Given the description of an element on the screen output the (x, y) to click on. 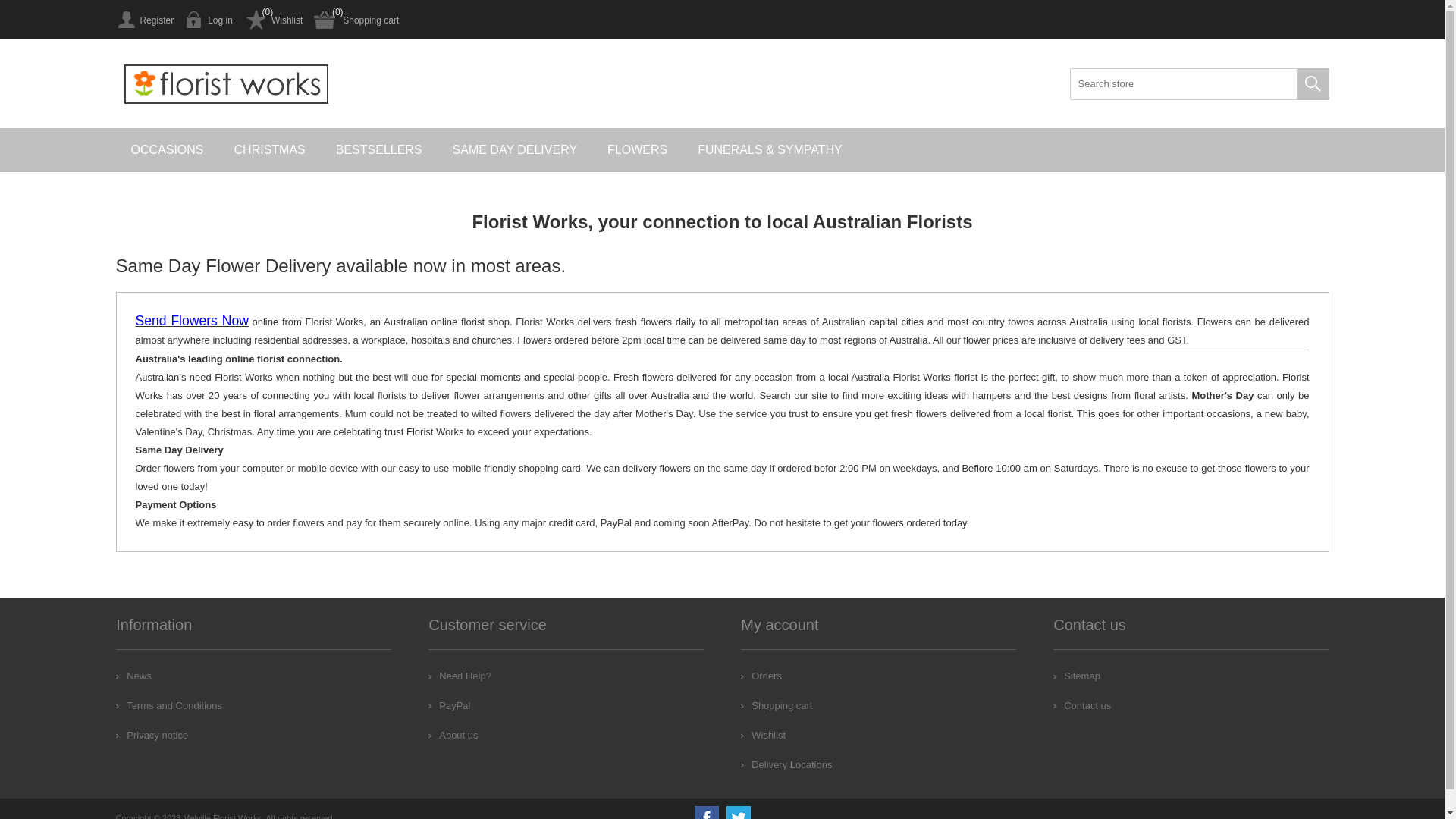
Wishlist Element type: text (762, 734)
About us Element type: text (452, 734)
Register Element type: text (144, 19)
SAME DAY DELIVERY Element type: text (515, 150)
Wishlist Element type: text (273, 19)
BESTSELLERS Element type: text (378, 150)
FUNERALS & SYMPATHY Element type: text (769, 150)
Delivery Locations Element type: text (785, 764)
Send Flowers Now Element type: text (190, 321)
Shopping cart Element type: text (355, 19)
Search Element type: text (1312, 84)
Contact us Element type: text (1081, 705)
News Element type: text (133, 675)
FLOWERS Element type: text (637, 150)
Privacy notice Element type: text (152, 734)
PayPal Element type: text (449, 705)
CHRISTMAS Element type: text (269, 150)
Shopping cart Element type: text (776, 705)
Need Help? Element type: text (459, 675)
Orders Element type: text (760, 675)
Log in Element type: text (208, 19)
Terms and Conditions Element type: text (169, 705)
Sitemap Element type: text (1076, 675)
OCCASIONS Element type: text (166, 150)
